Given the description of an element on the screen output the (x, y) to click on. 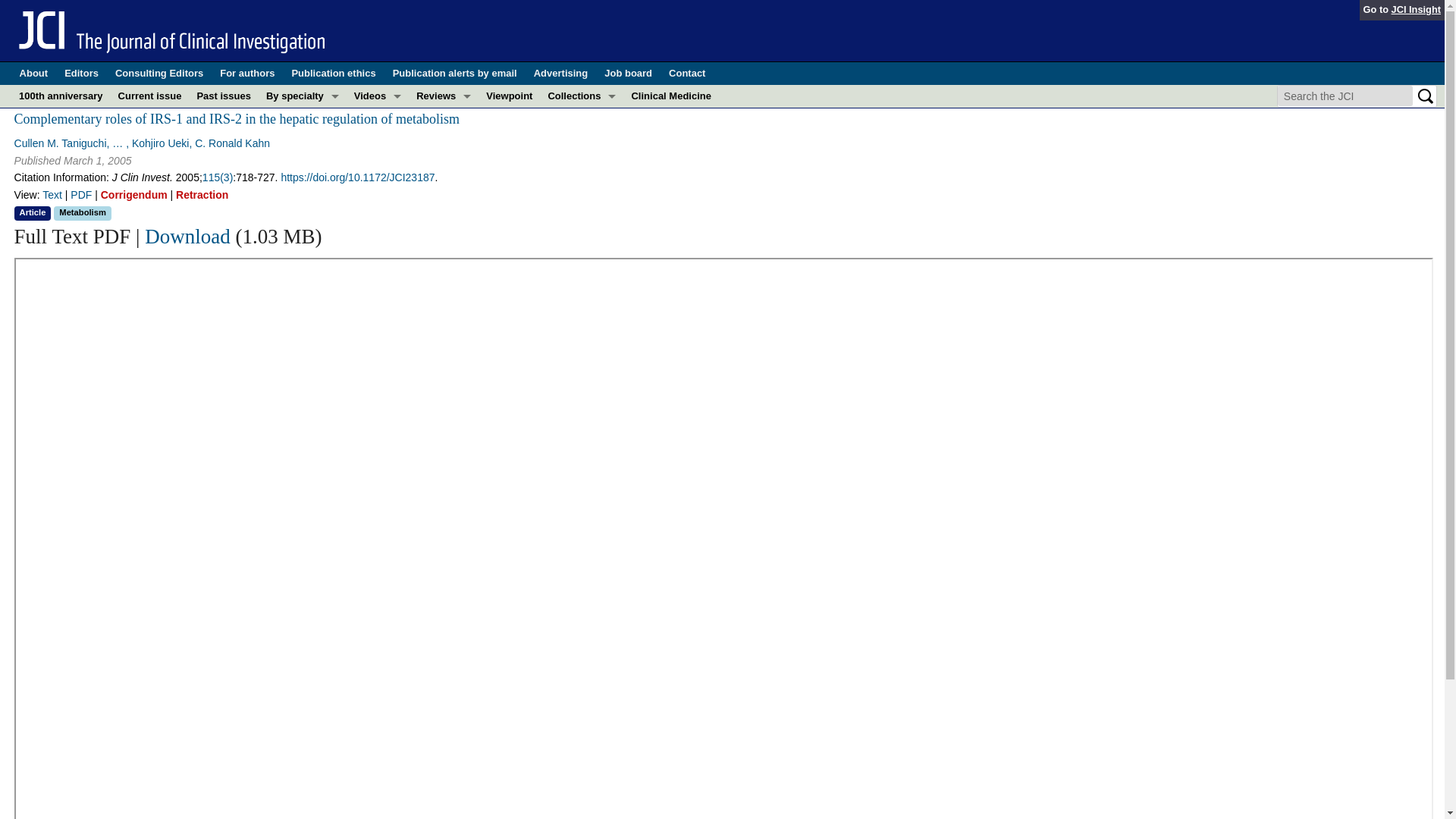
Publication ethics (333, 73)
Videos (377, 96)
Current issue (149, 96)
Neuroscience (302, 255)
Contact (686, 73)
Pulmonology (302, 300)
Nephrology (302, 232)
By specialty (302, 96)
Editors (81, 73)
100th anniversary (60, 96)
